Given the description of an element on the screen output the (x, y) to click on. 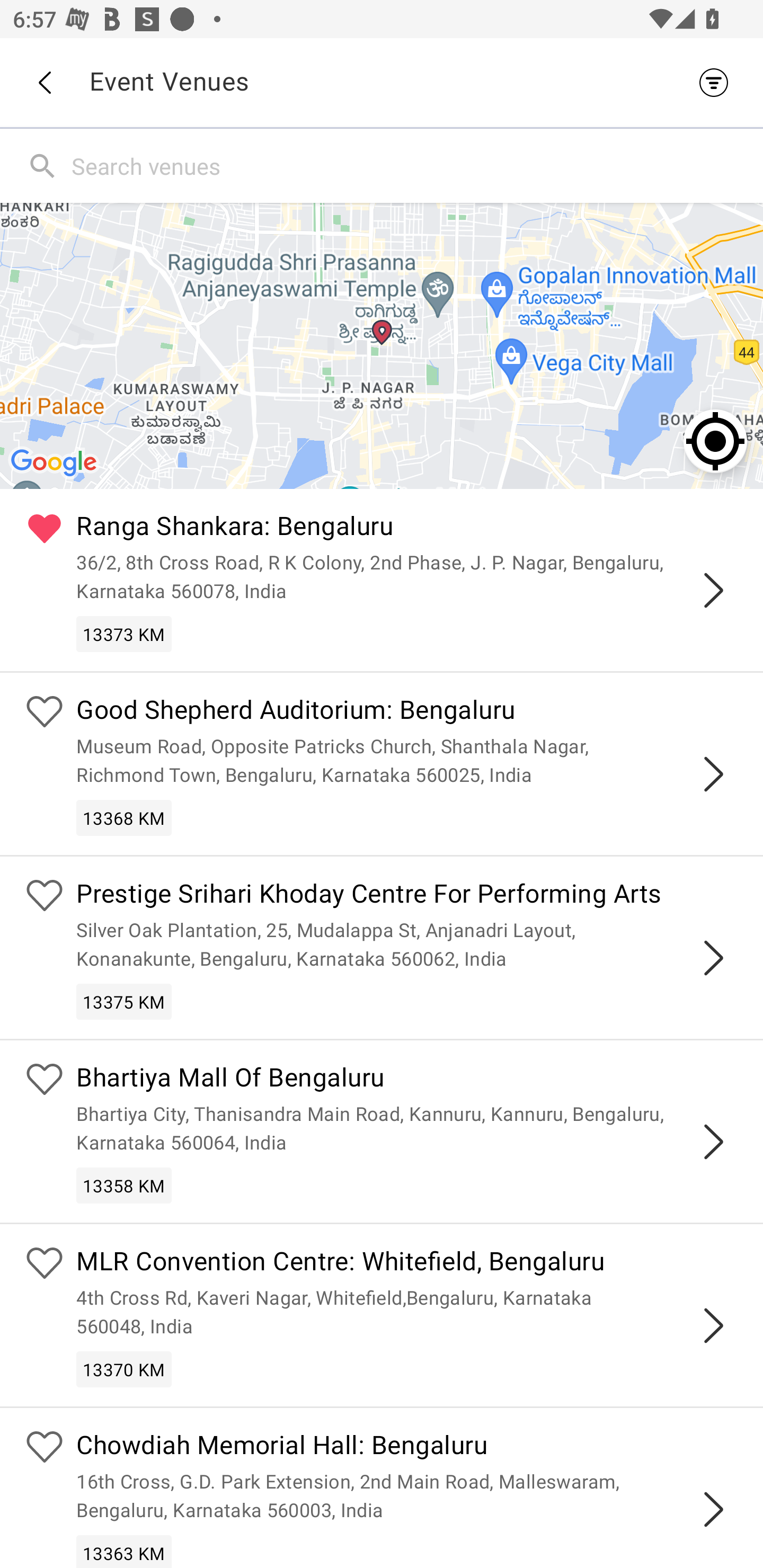
Back Event Venues Filter (381, 82)
Filter (718, 82)
Back (44, 82)
Search venues (413, 165)
Google Map Ranga Shankara: Bengaluru (381, 345)
Ranga Shankara: Bengaluru (406, 528)
 (713, 590)
13373 KM (123, 634)
Good Shepherd Auditorium: Bengaluru (406, 711)
 (713, 773)
13368 KM (123, 817)
Prestige Srihari Khoday Centre For Performing Arts (406, 894)
 (713, 957)
13375 KM (123, 1001)
Bhartiya Mall Of Bengaluru (406, 1079)
 (713, 1141)
13358 KM (123, 1186)
MLR Convention Centre: Whitefield, Bengaluru (406, 1263)
 (713, 1325)
13370 KM (123, 1369)
Chowdiah Memorial Hall: Bengaluru (406, 1446)
 (713, 1508)
13363 KM (123, 1551)
